Given the description of an element on the screen output the (x, y) to click on. 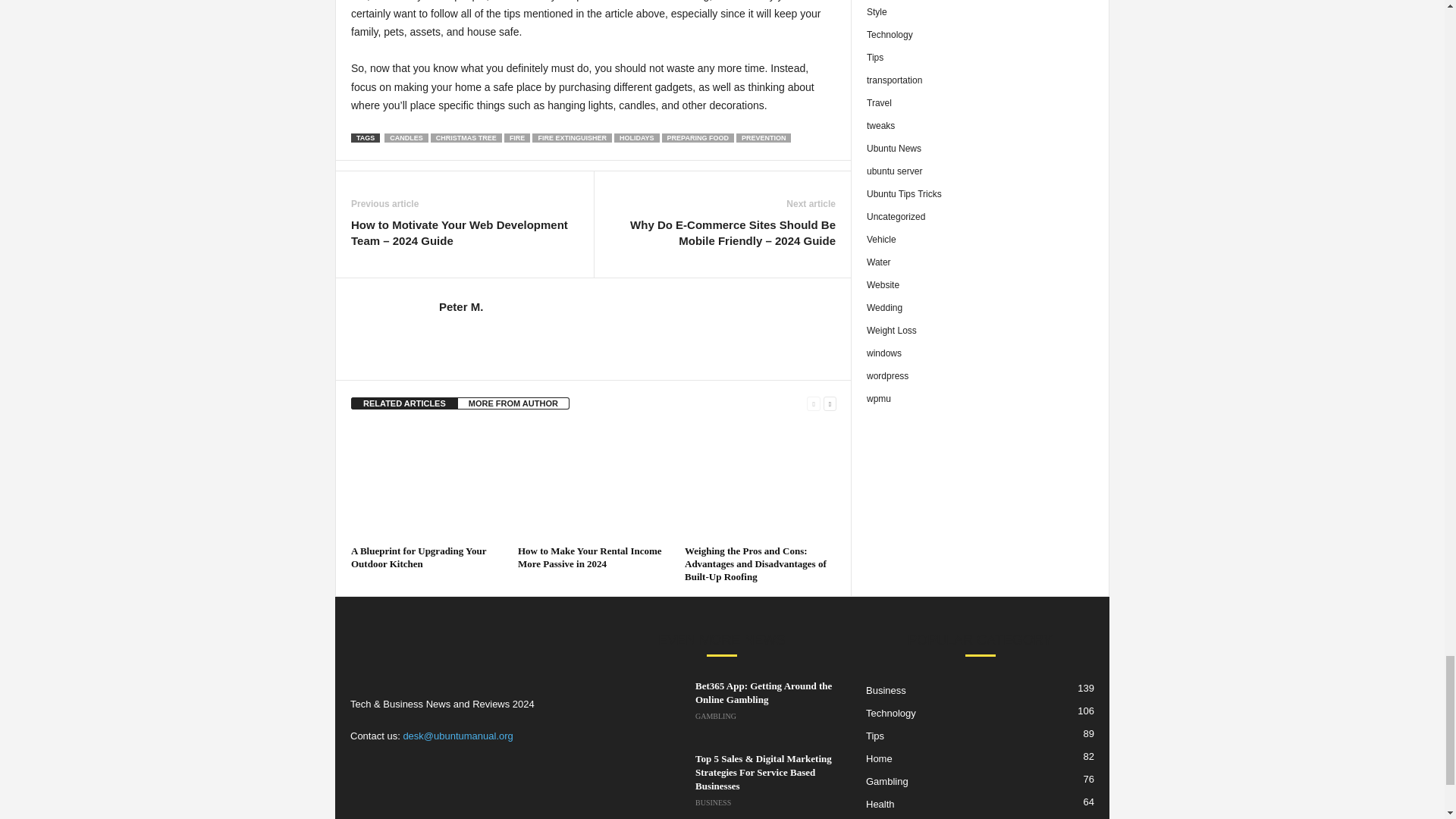
How to Make Your Rental Income More Passive in 2024 (593, 482)
A Blueprint for Upgrading Your Outdoor Kitchen (418, 557)
CANDLES (406, 137)
FIRE (517, 137)
FIRE EXTINGUISHER (571, 137)
A Blueprint for Upgrading Your Outdoor Kitchen (426, 482)
How to Make Your Rental Income More Passive in 2024 (590, 557)
CHRISTMAS TREE (466, 137)
